Given the description of an element on the screen output the (x, y) to click on. 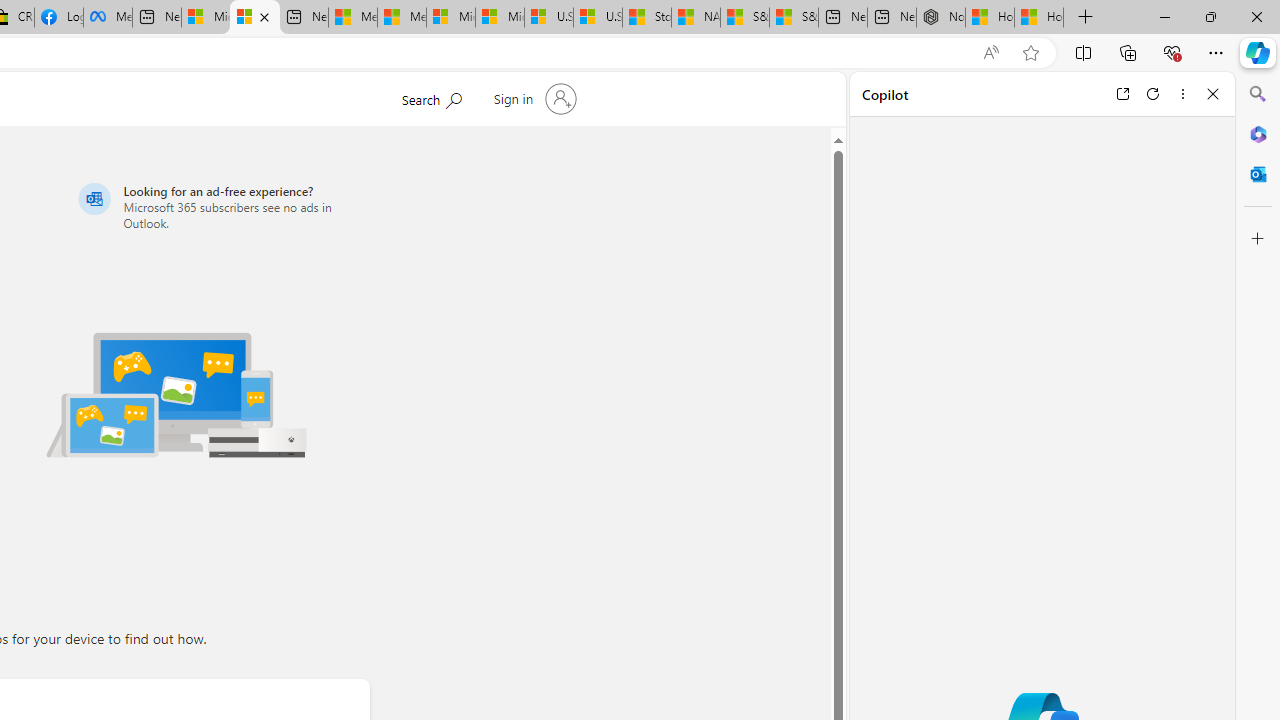
Search Microsoft.com (431, 97)
Sign in to your account (532, 98)
